Given the description of an element on the screen output the (x, y) to click on. 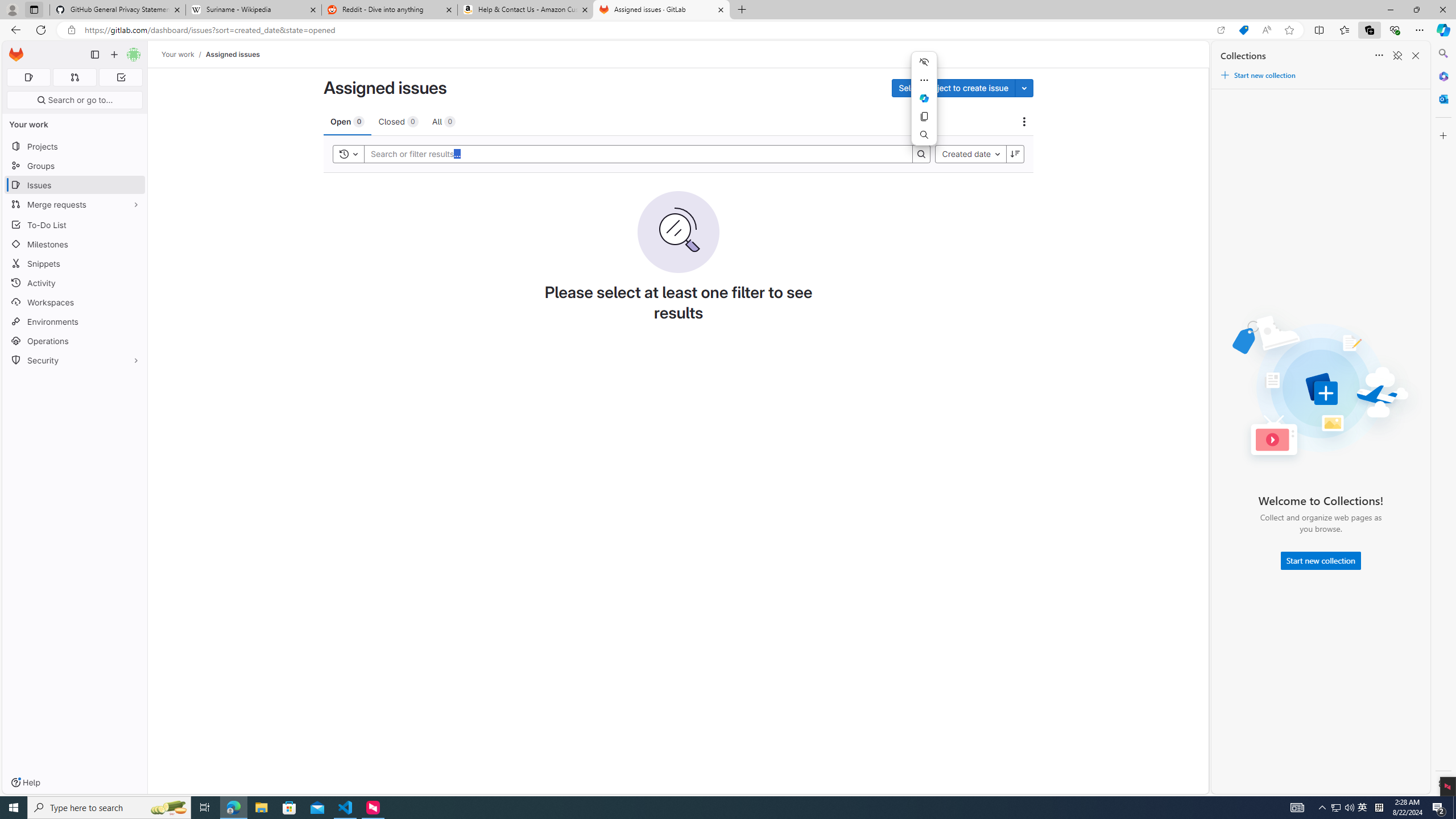
To-Do List (74, 224)
Start new collection (1321, 560)
Your work/ (183, 53)
Merge requests 0 (74, 76)
Milestones (74, 244)
Your work (178, 53)
Toggle project select (1023, 87)
